Given the description of an element on the screen output the (x, y) to click on. 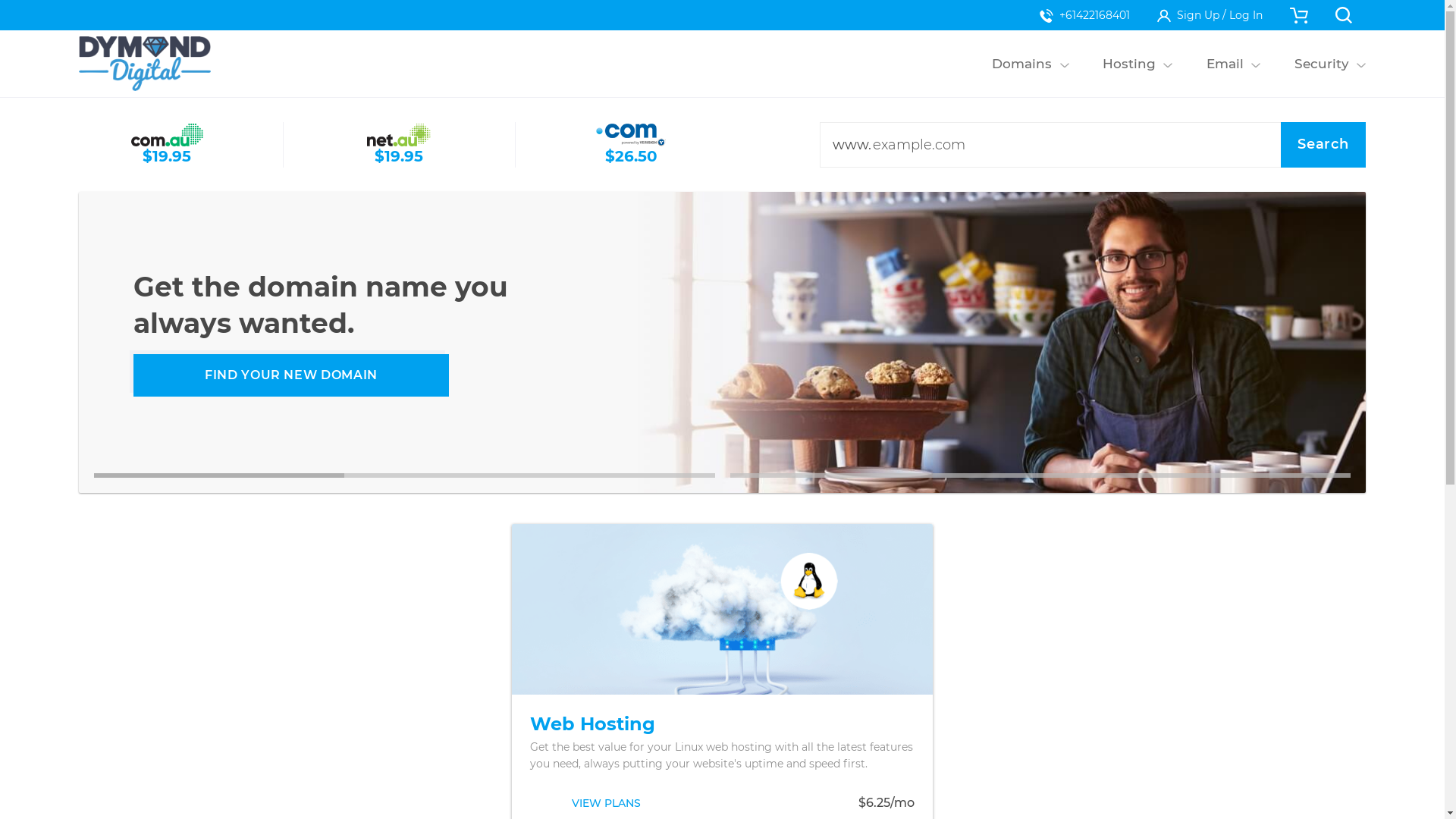
VIEW PLANS Element type: text (606, 802)
Search Element type: text (1322, 144)
Security Element type: text (1321, 63)
+61422168401 Element type: text (1084, 15)
BUILD NOW Element type: text (290, 375)
Email Element type: text (1224, 63)
Hosting Element type: text (1129, 63)
Domains Element type: text (1021, 63)
